Given the description of an element on the screen output the (x, y) to click on. 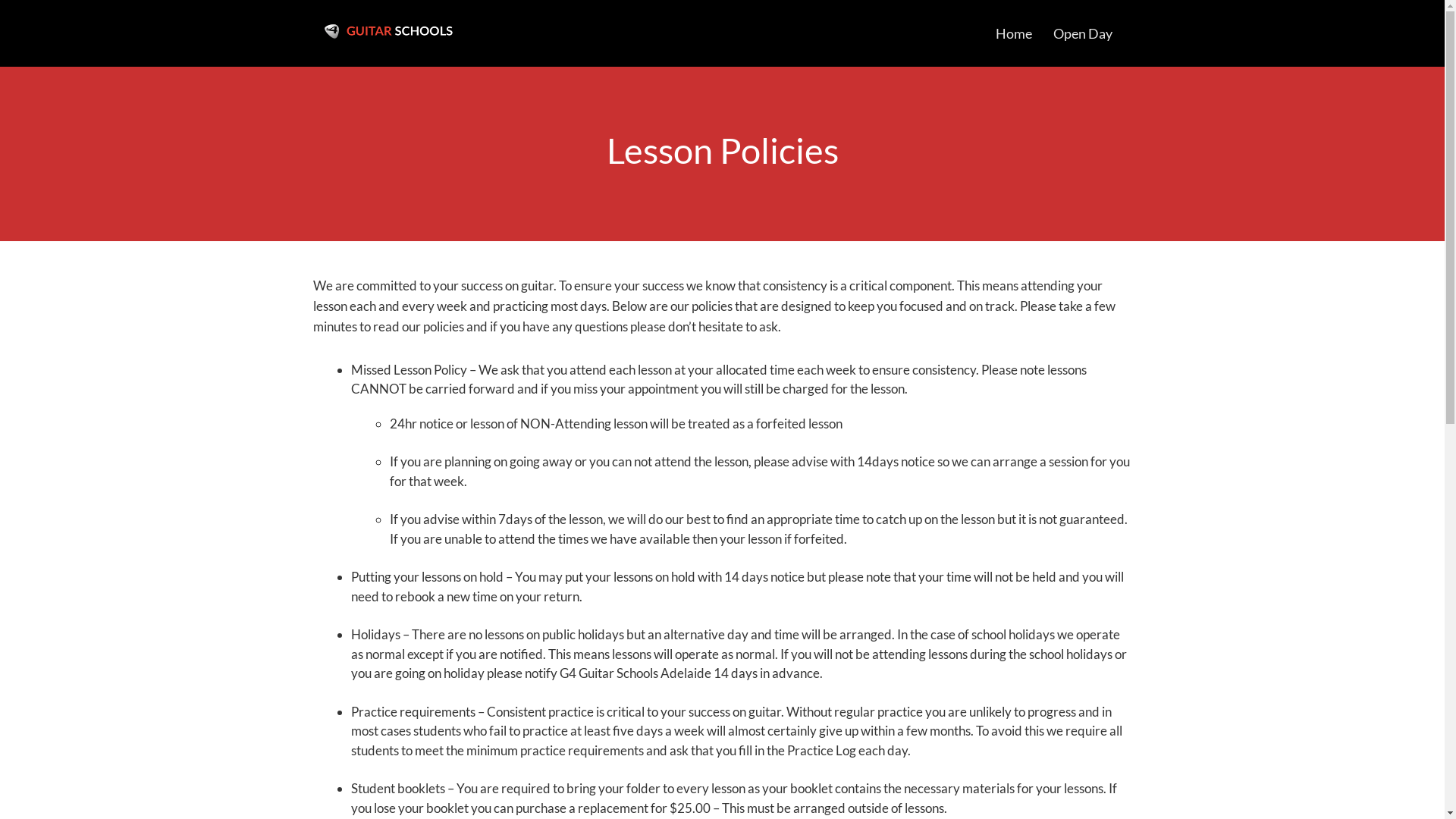
Home Element type: text (1013, 33)
Open Day Element type: text (1082, 33)
